Given the description of an element on the screen output the (x, y) to click on. 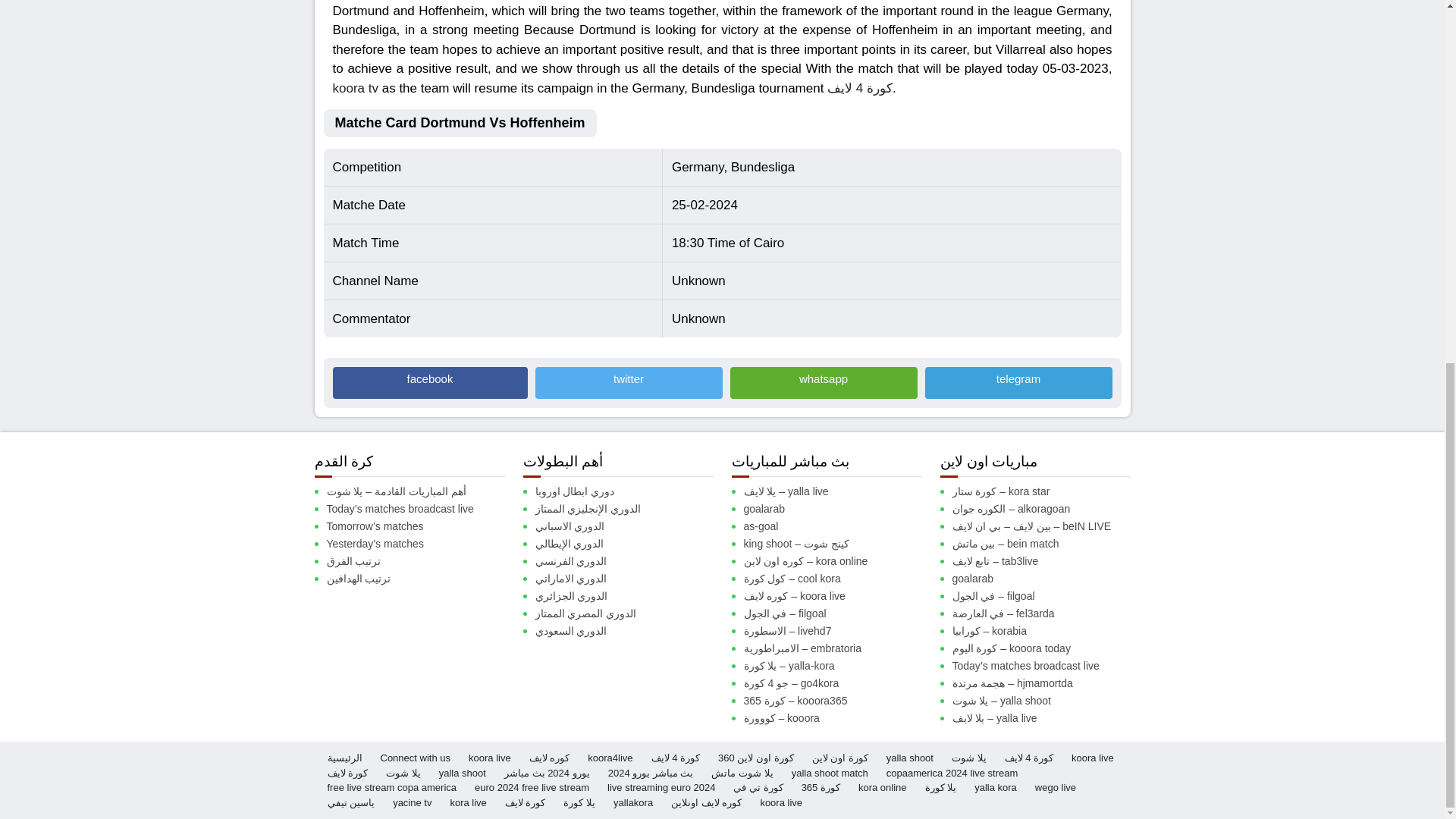
twitter (628, 382)
koora tv (354, 87)
Share to twitter (628, 382)
Share to whatsapp (823, 382)
facebook (429, 382)
Share to telegram (1018, 382)
whatsapp (823, 382)
Share to facebook (429, 382)
telegram (1018, 382)
